Given the description of an element on the screen output the (x, y) to click on. 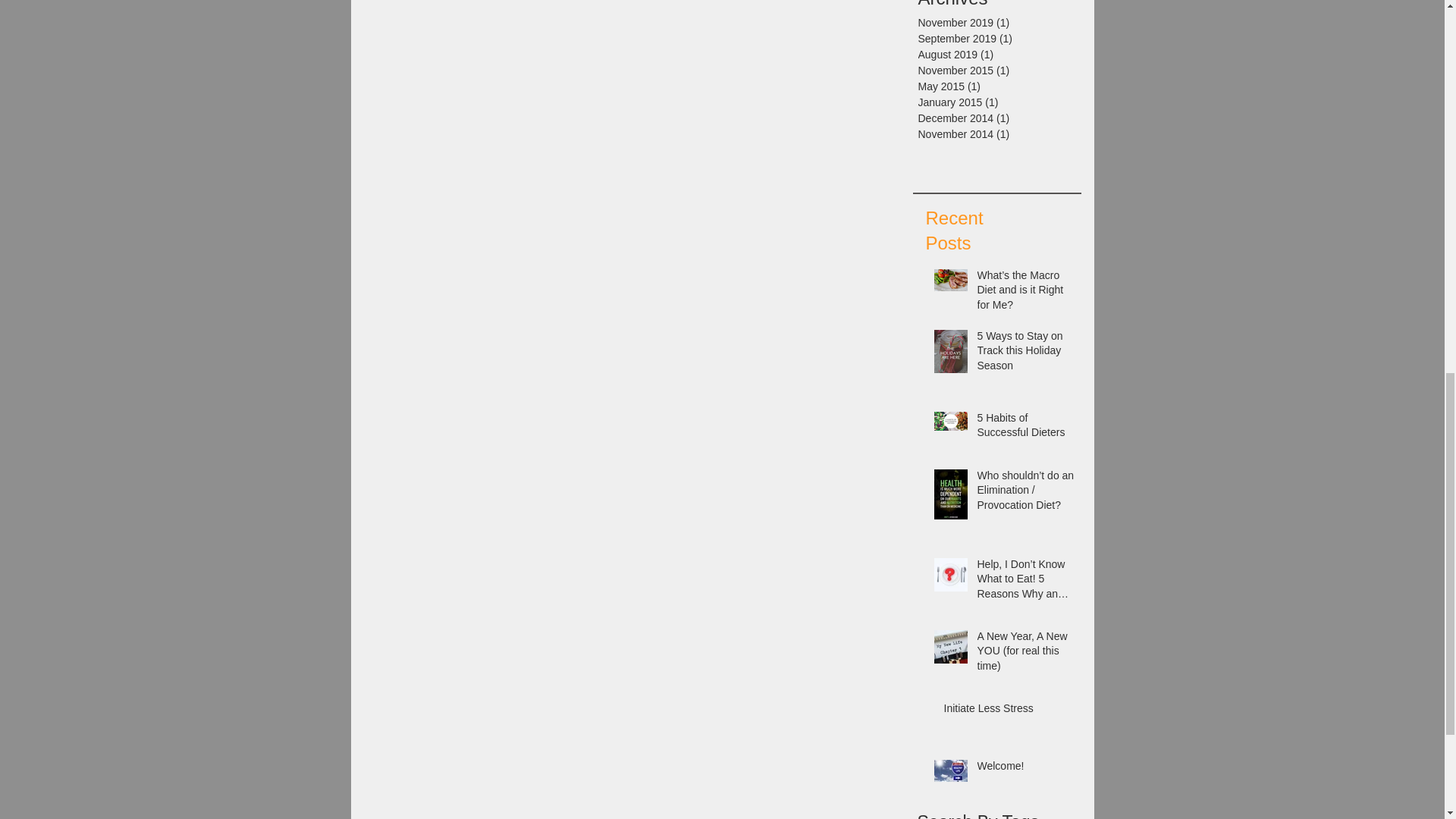
Initiate Less Stress (1008, 711)
5 Habits of Successful Dieters (1025, 428)
5 Ways to Stay on Track this Holiday Season (1025, 354)
Welcome! (1025, 769)
